Given the description of an element on the screen output the (x, y) to click on. 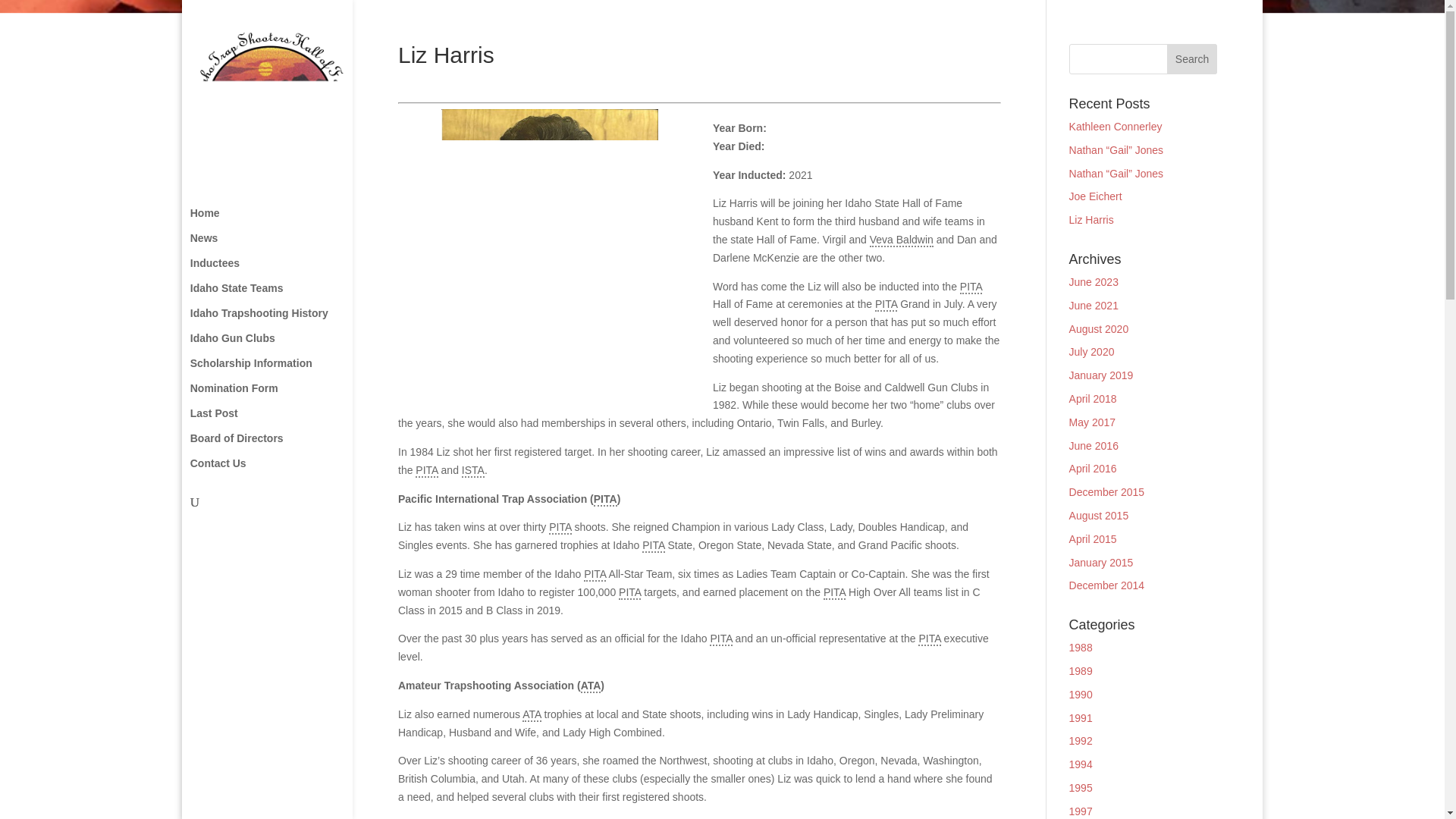
May 2017 (1091, 422)
June 2021 (1093, 305)
1988 (1080, 647)
1994 (1080, 764)
August 2020 (1098, 328)
Kathleen Connerley (1114, 126)
January 2019 (1101, 375)
Board of Directors (282, 445)
Search (1192, 59)
Inductees (282, 269)
